Given the description of an element on the screen output the (x, y) to click on. 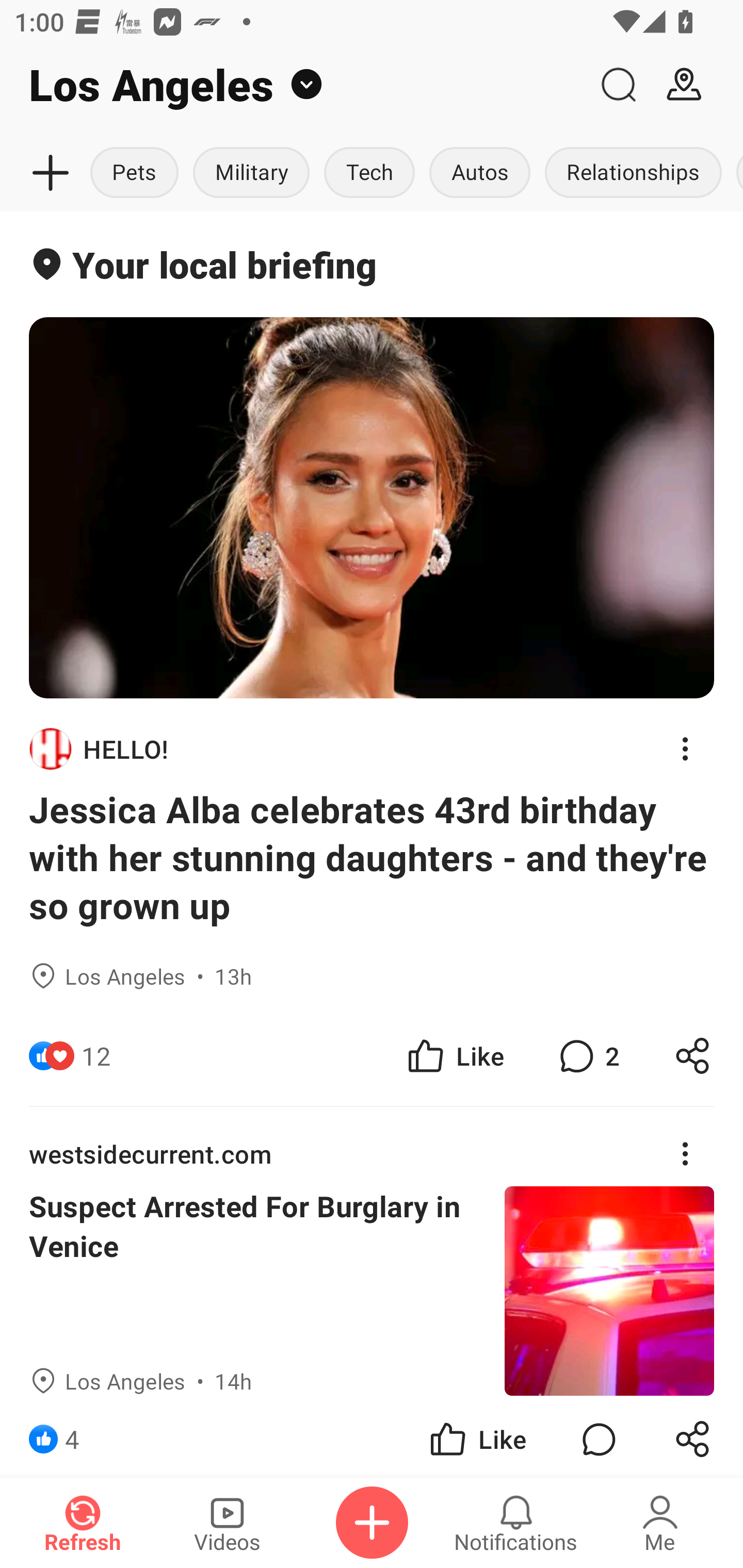
Los Angeles (292, 84)
Pets (135, 172)
Military (250, 172)
Tech (369, 172)
Autos (479, 172)
Relationships (632, 172)
12 (95, 1055)
Like (454, 1055)
2 (587, 1055)
4 (72, 1436)
Like (476, 1436)
Videos (227, 1522)
Notifications (516, 1522)
Me (659, 1522)
